Given the description of an element on the screen output the (x, y) to click on. 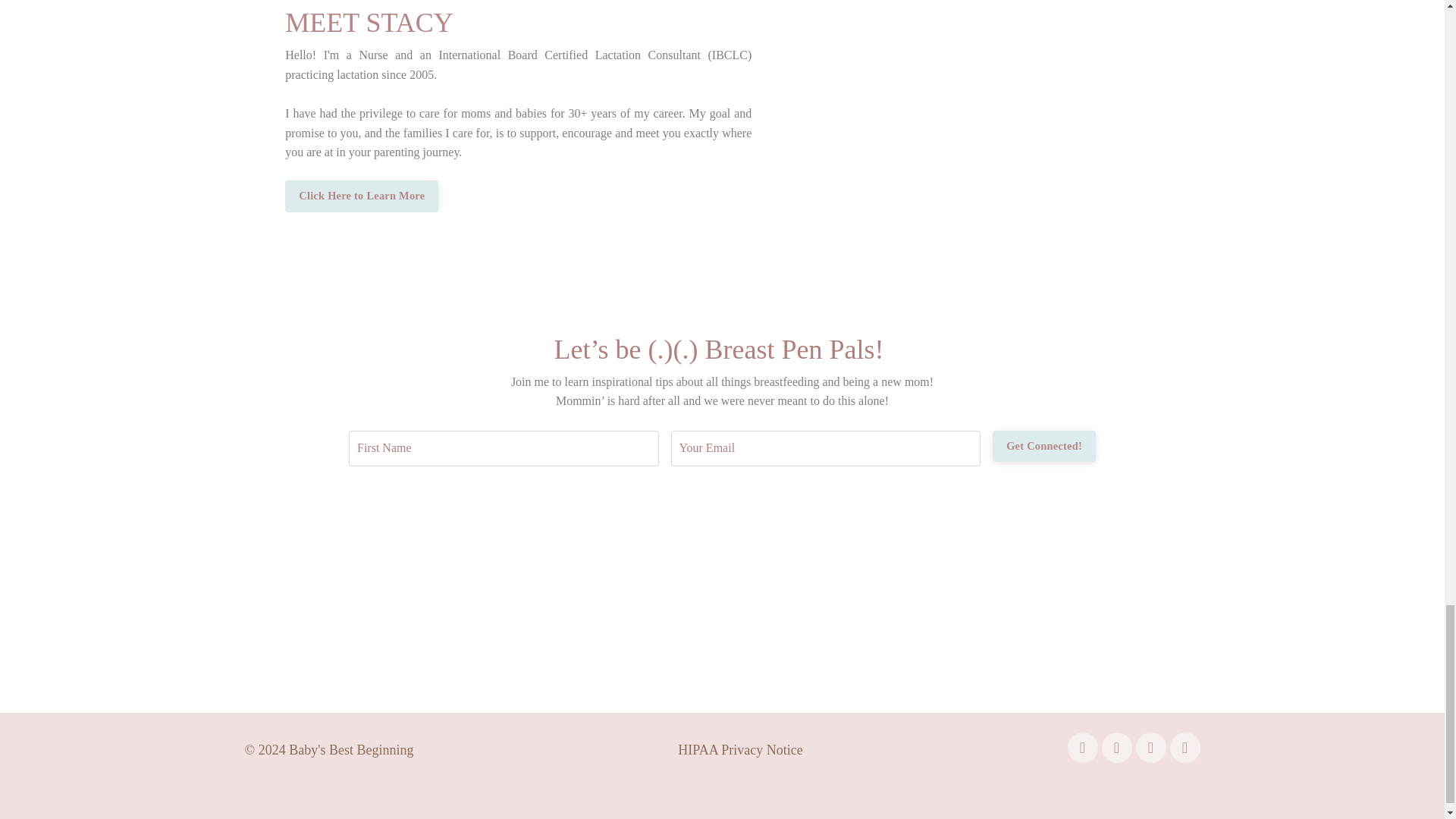
Get Connected! (1044, 446)
Powered by Kajabi (1158, 794)
HIPAA Privacy Notice (740, 749)
Click Here to Learn More (361, 196)
